Given the description of an element on the screen output the (x, y) to click on. 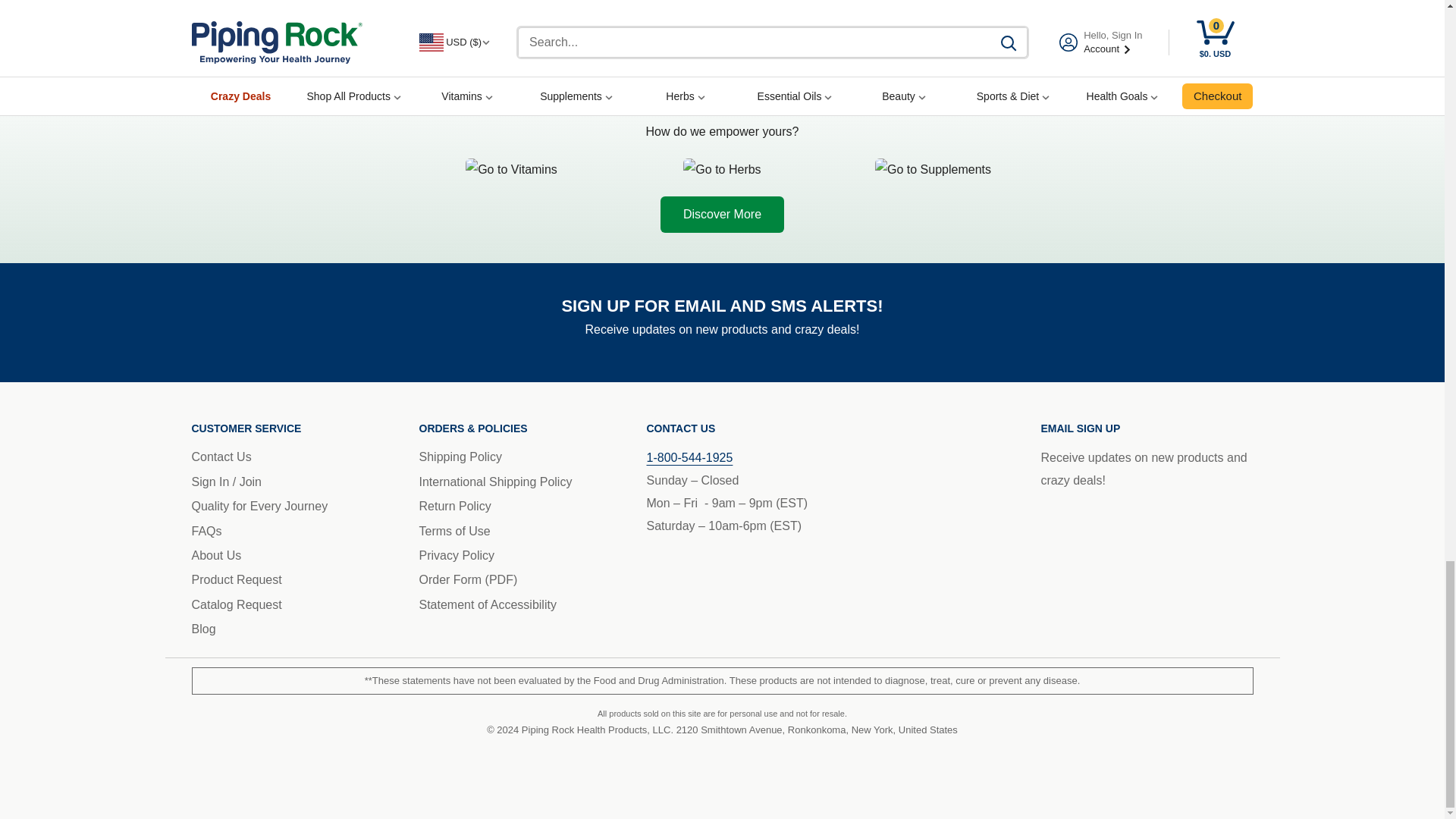
Vitamins (511, 169)
Herbs (722, 169)
Discover More (722, 214)
Supplements (933, 169)
